Given the description of an element on the screen output the (x, y) to click on. 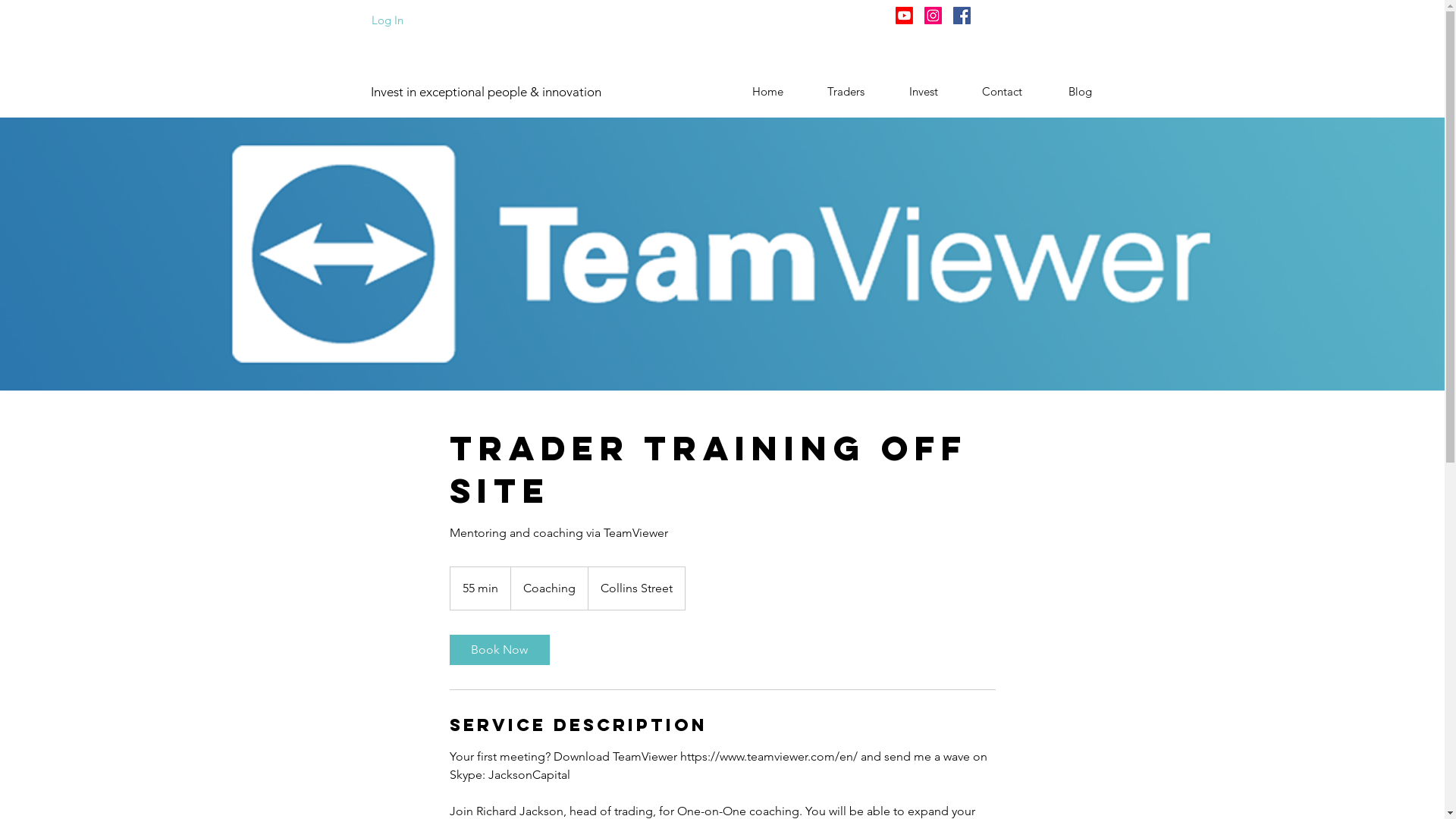
Log In Element type: text (387, 19)
Home Element type: text (767, 91)
Blog Element type: text (1079, 91)
Book Now Element type: text (498, 649)
Traders Element type: text (845, 91)
Invest Element type: text (923, 91)
Facebook Like Element type: hover (1013, 13)
Contact Element type: text (1002, 91)
